Given the description of an element on the screen output the (x, y) to click on. 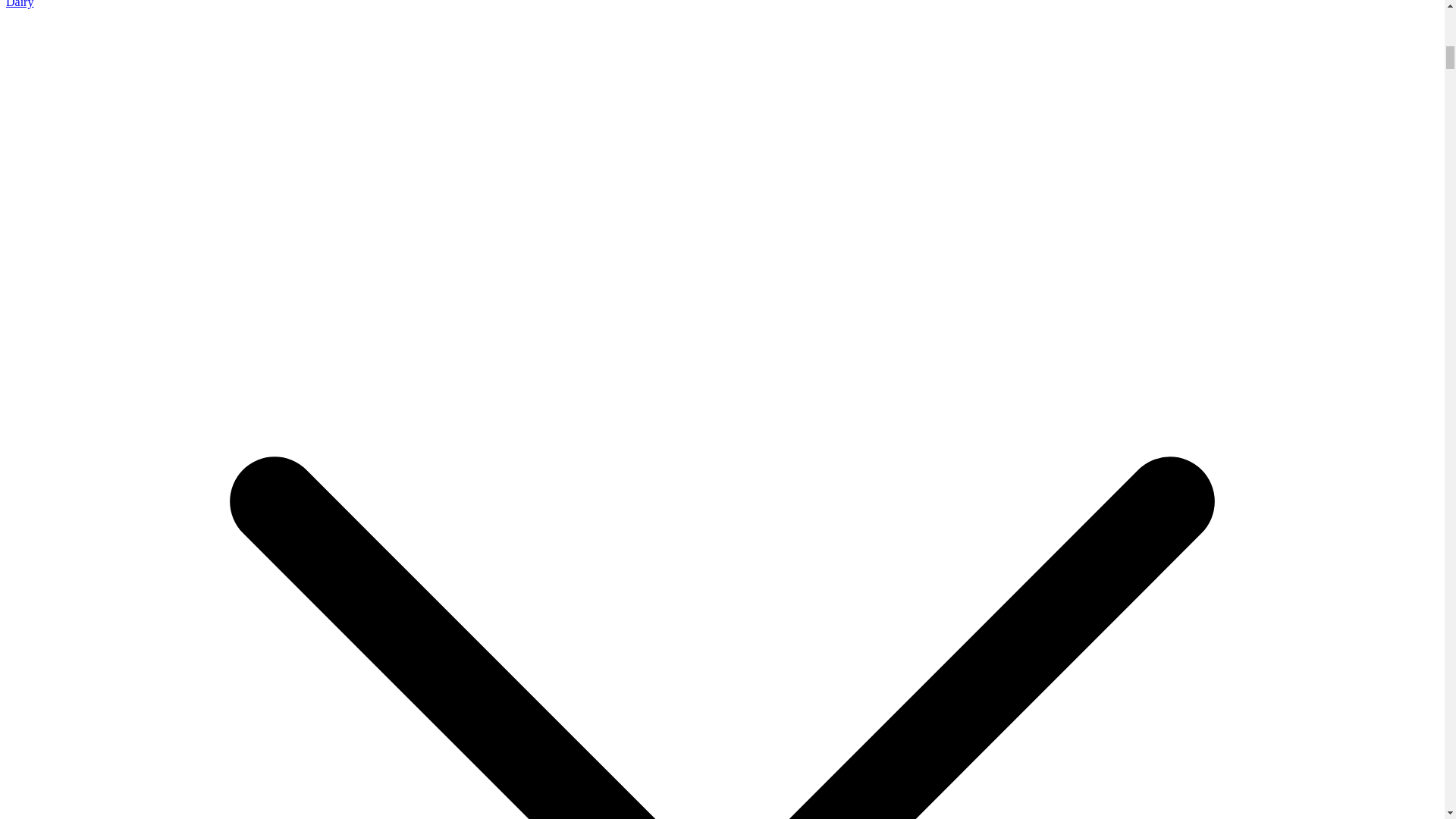
Dairy (19, 4)
